Given the description of an element on the screen output the (x, y) to click on. 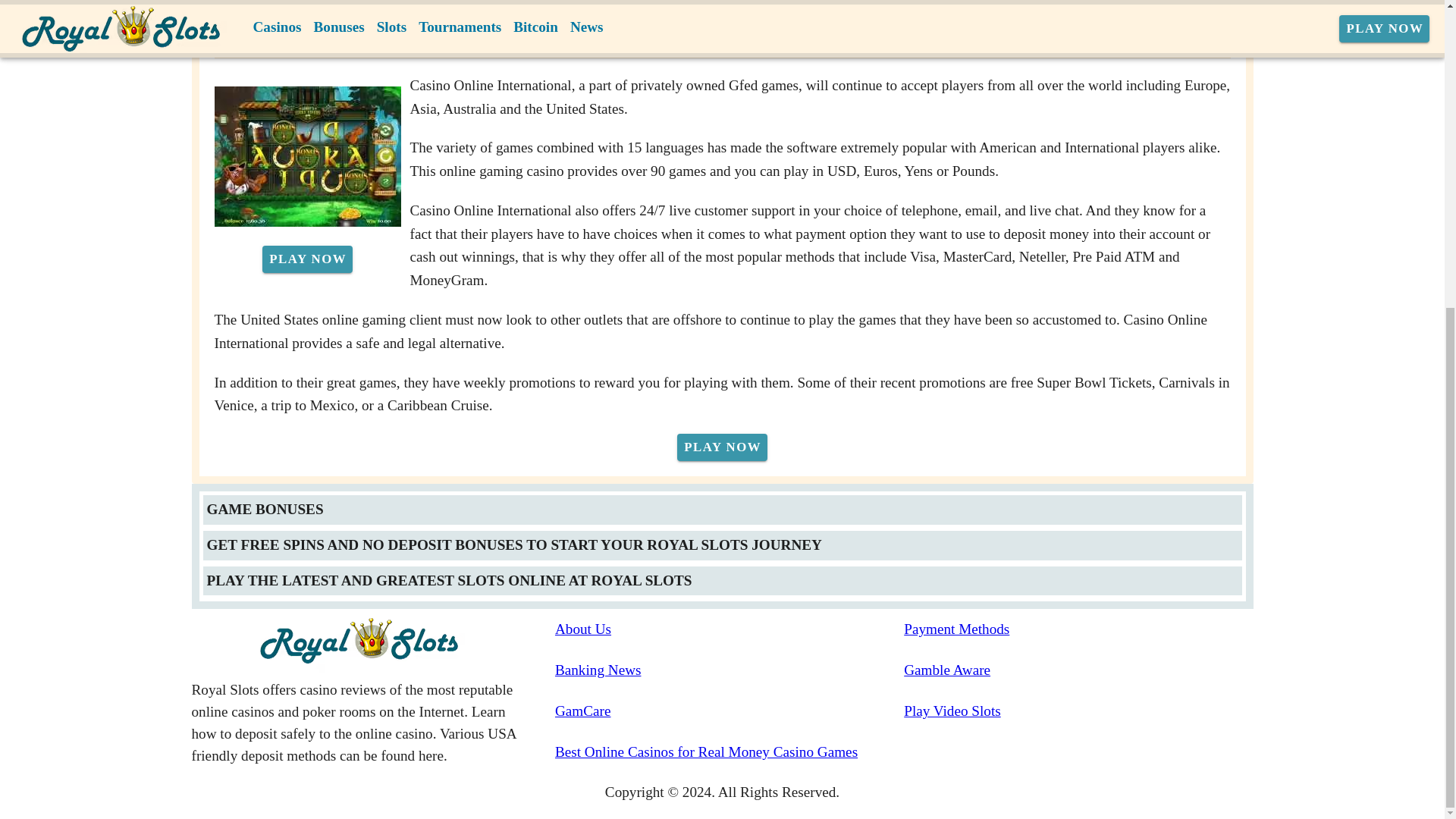
PLAY NOW (307, 258)
Gamble Aware (1078, 670)
Best Online Casinos for Real Money Casino Games (729, 752)
Banking News (729, 670)
Payment Methods (1078, 629)
GamCare (729, 711)
About Us (729, 629)
Play Video Slots (1078, 711)
PLAY NOW (722, 447)
